Given the description of an element on the screen output the (x, y) to click on. 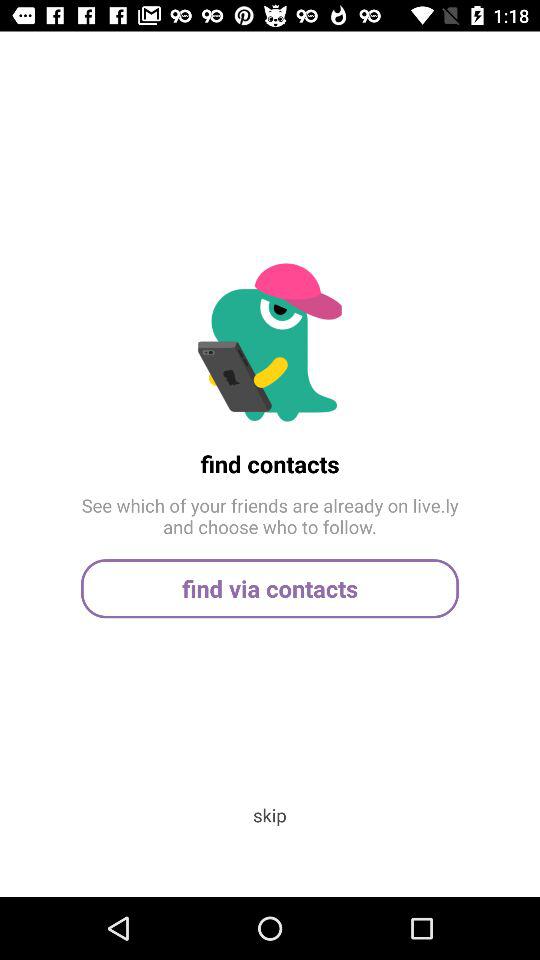
turn off skip app (269, 814)
